Given the description of an element on the screen output the (x, y) to click on. 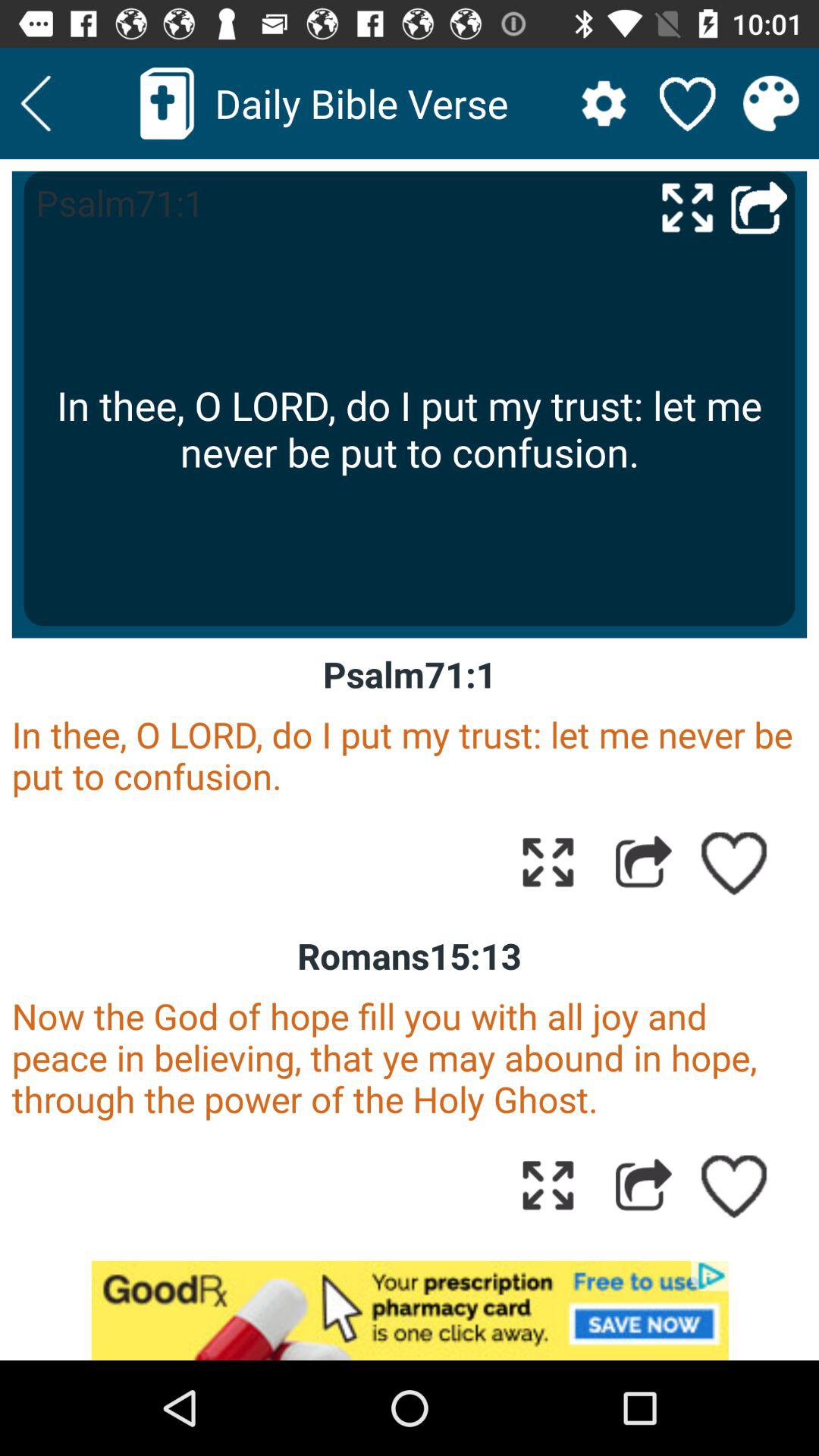
forward (759, 206)
